Given the description of an element on the screen output the (x, y) to click on. 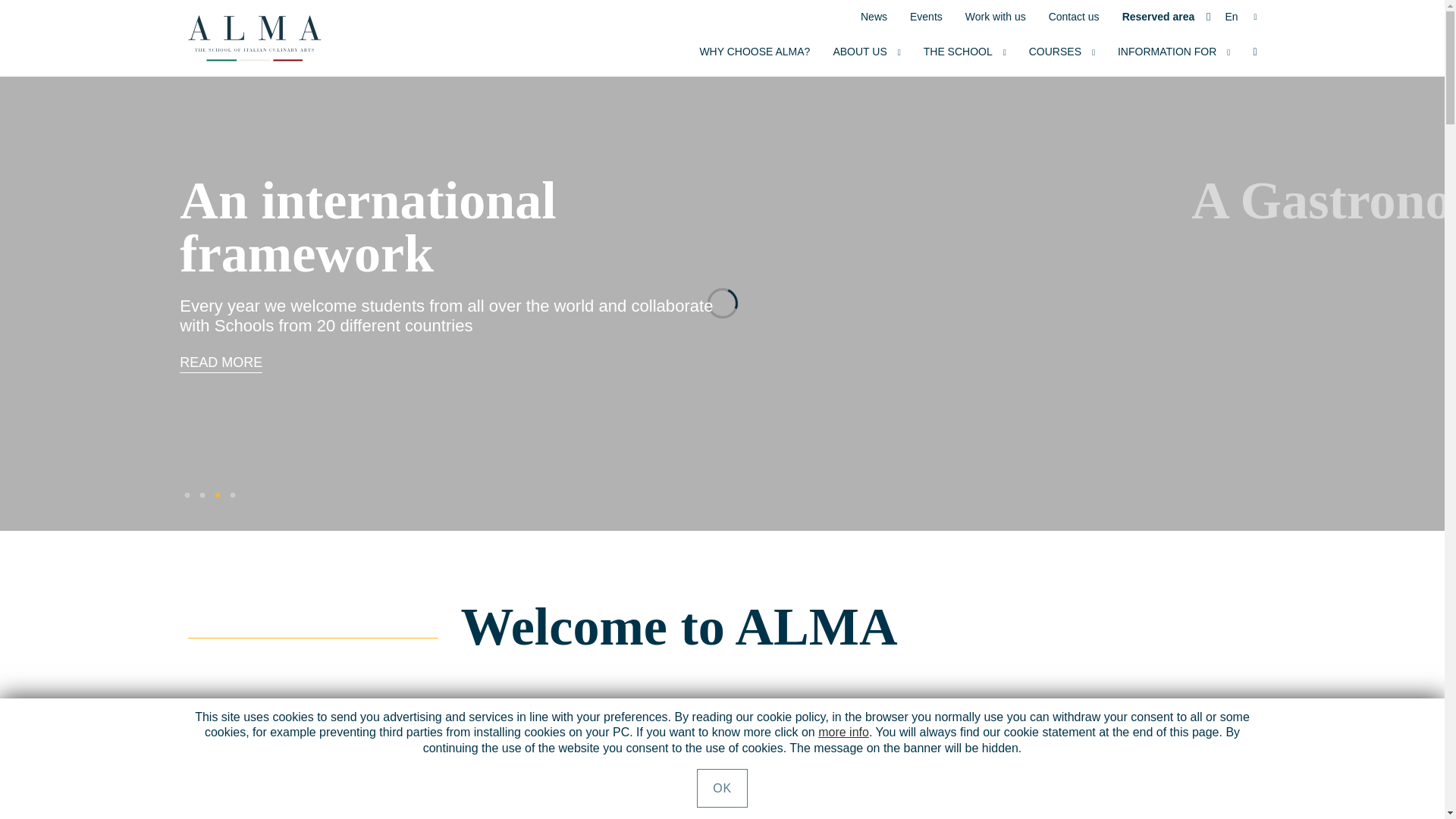
THE SCHOOL (964, 56)
ABOUT US (865, 56)
COURSES (1061, 56)
WHY CHOOSE ALMA? (753, 56)
